Given the description of an element on the screen output the (x, y) to click on. 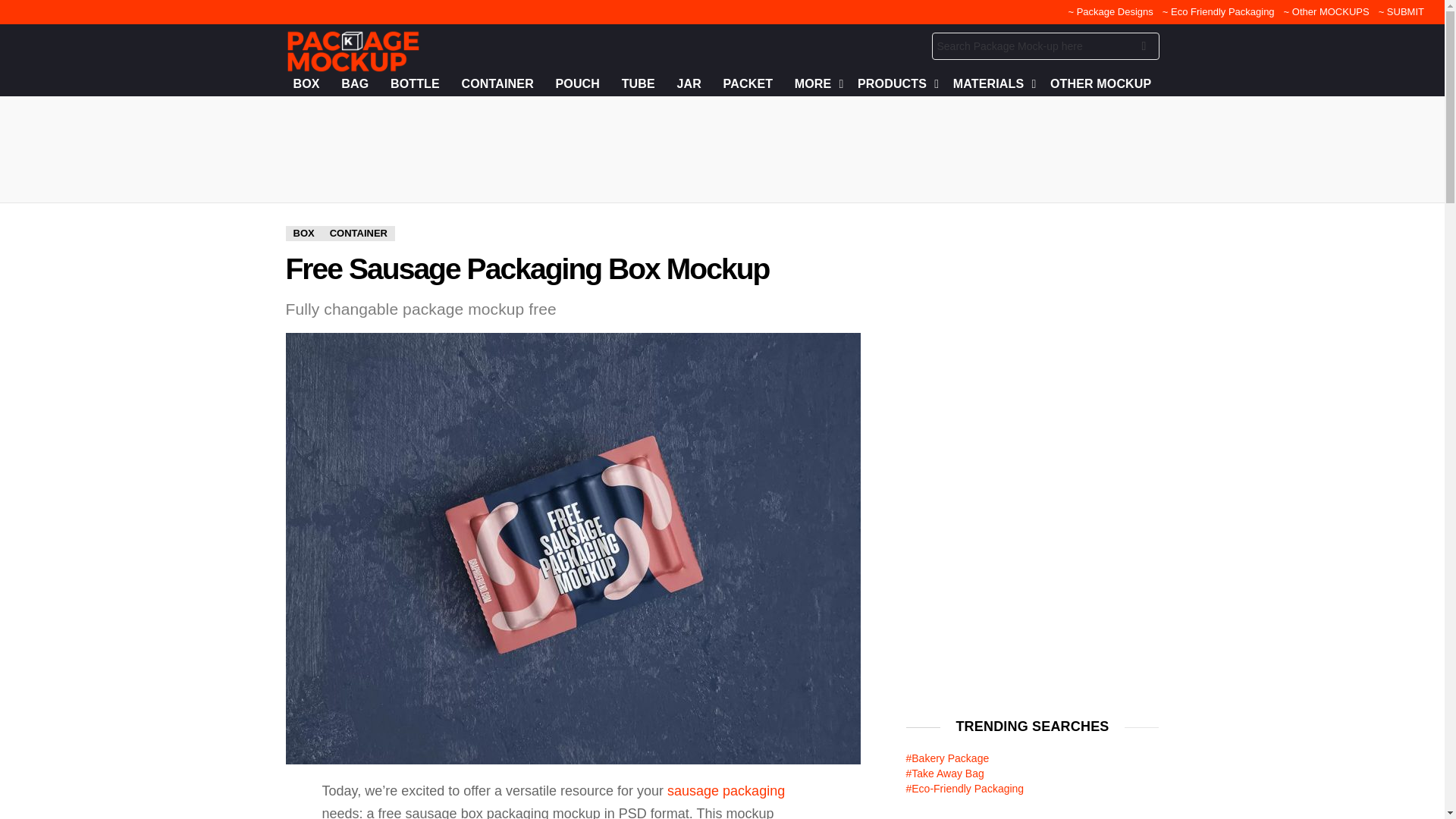
BAG (354, 83)
OTHER MOCKUP (1100, 83)
TUBE (638, 83)
BOX (305, 83)
BOTTLE (414, 83)
MORE (815, 83)
MATERIALS (990, 83)
POUCH (577, 83)
SEARCH (1143, 47)
PRODUCTS (894, 83)
JAR (688, 83)
PACKET (748, 83)
CONTAINER (496, 83)
Search for: (1044, 45)
